Given the description of an element on the screen output the (x, y) to click on. 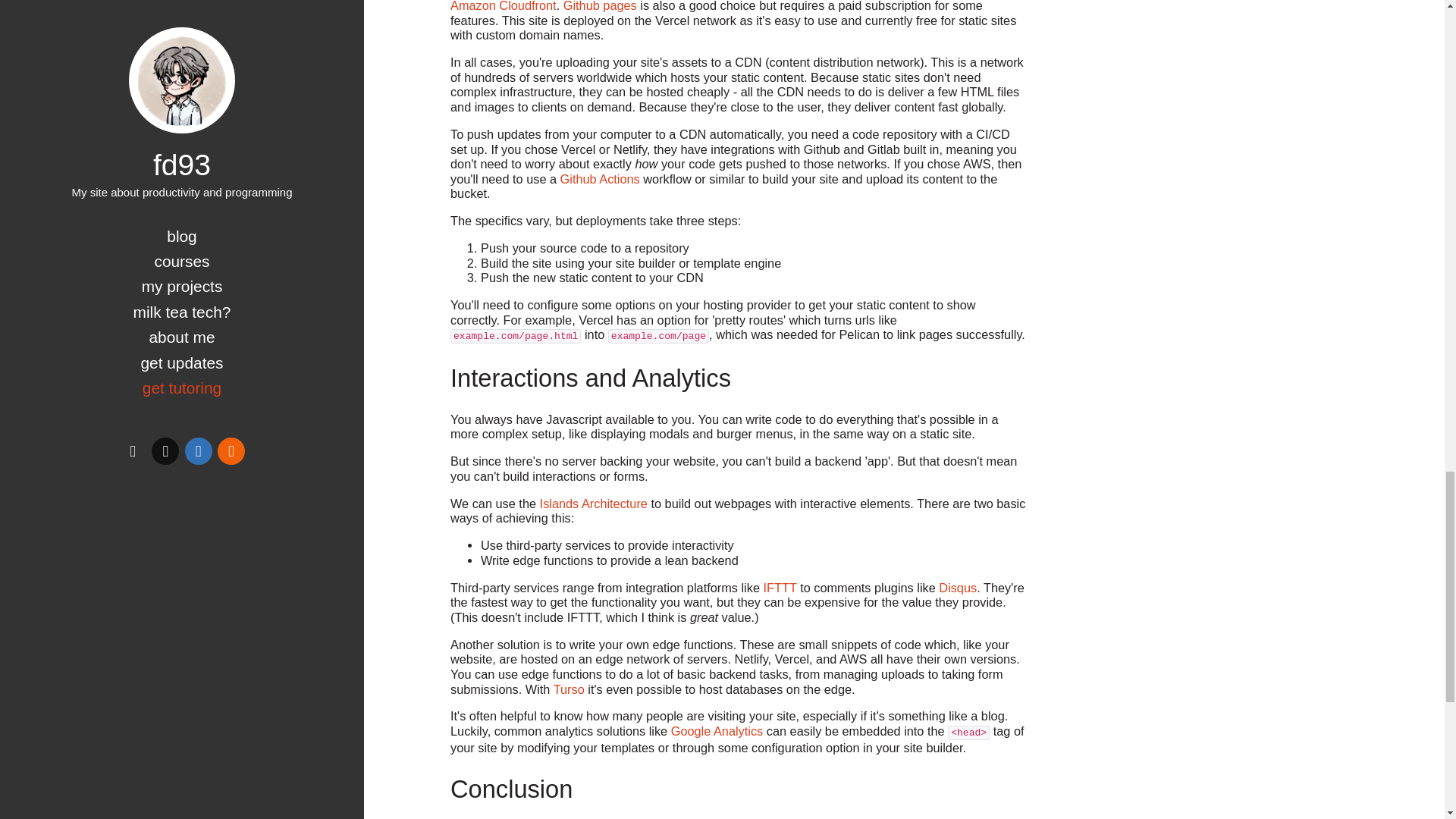
Islands Architecture (593, 503)
AWS S3 buckets via Amazon Cloudfront (731, 6)
Github Actions (600, 178)
Github pages (600, 6)
Disqus (957, 587)
IFTTT (779, 587)
Turso (569, 689)
Google Analytics (716, 730)
